Given the description of an element on the screen output the (x, y) to click on. 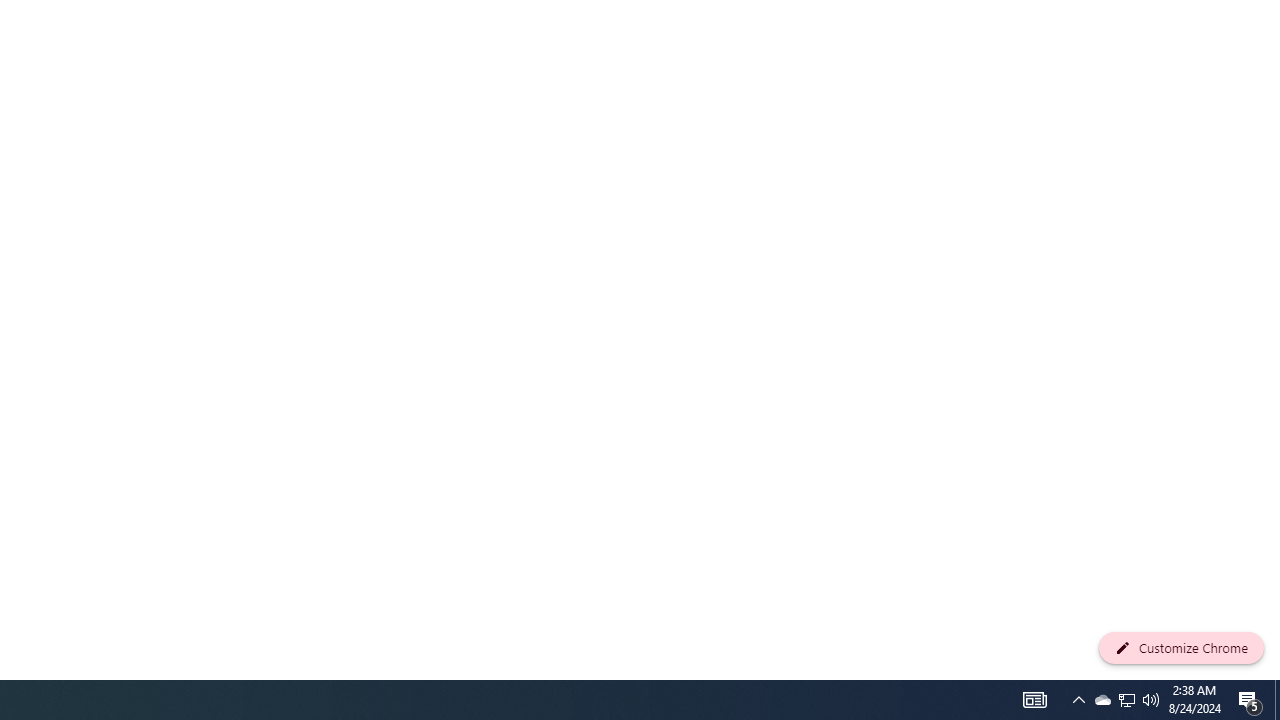
Customize Chrome (1181, 647)
